Given the description of an element on the screen output the (x, y) to click on. 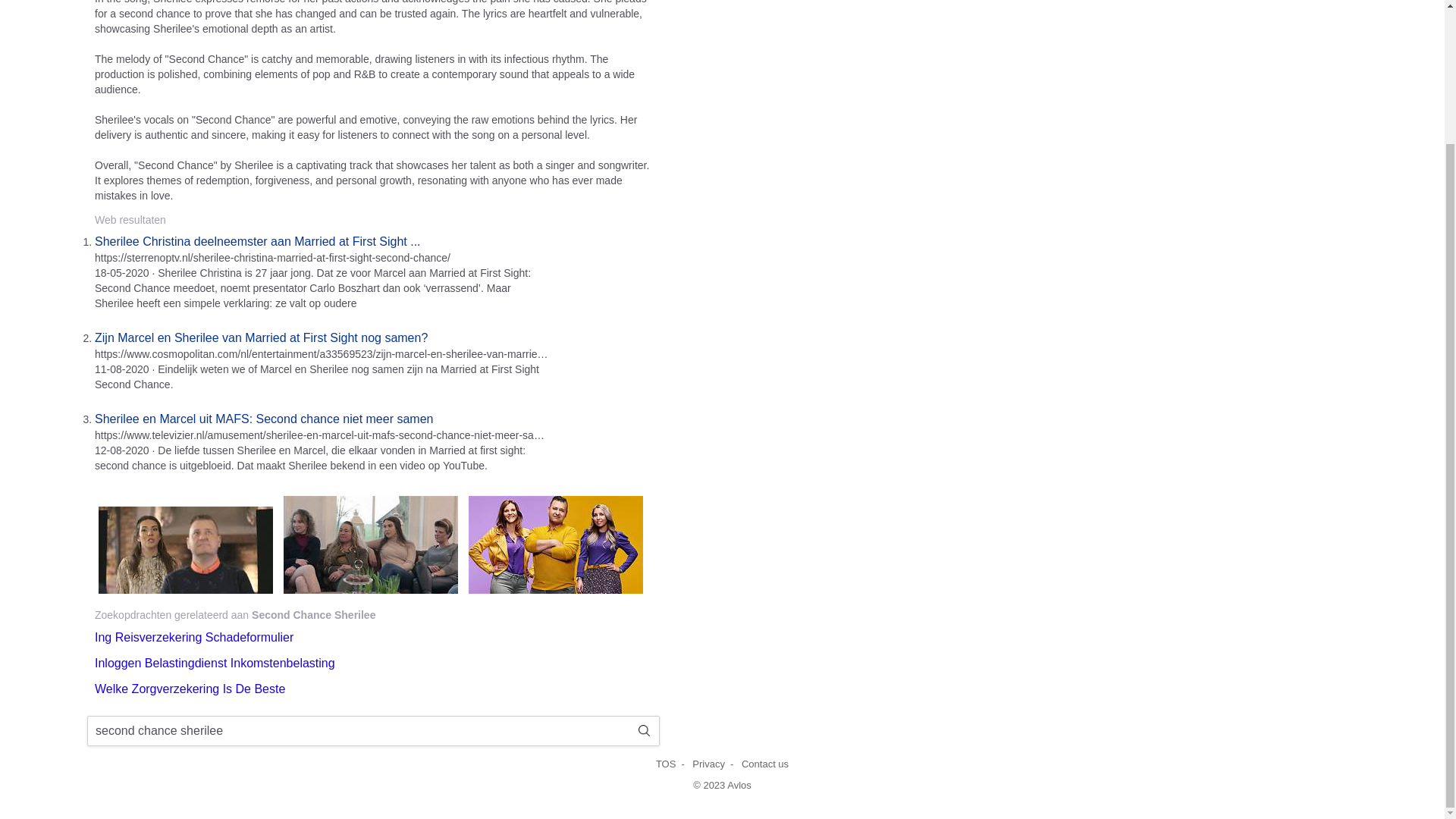
search (643, 730)
second chance sherilee (357, 730)
Privacy (709, 763)
welke zorgverzekering is de beste (189, 688)
second chance sherilee (357, 730)
Inloggen Belastingdienst Inkomstenbelasting (214, 662)
Welke Zorgverzekering Is De Beste (189, 688)
Sherilee en Marcel uit MAFS: Second chance niet meer samen (263, 418)
inloggen belastingdienst inkomstenbelasting (214, 662)
Ing Reisverzekering Schadeformulier (194, 636)
ing reisverzekering schadeformulier (194, 636)
TOS (666, 763)
Contact us (765, 763)
